Given the description of an element on the screen output the (x, y) to click on. 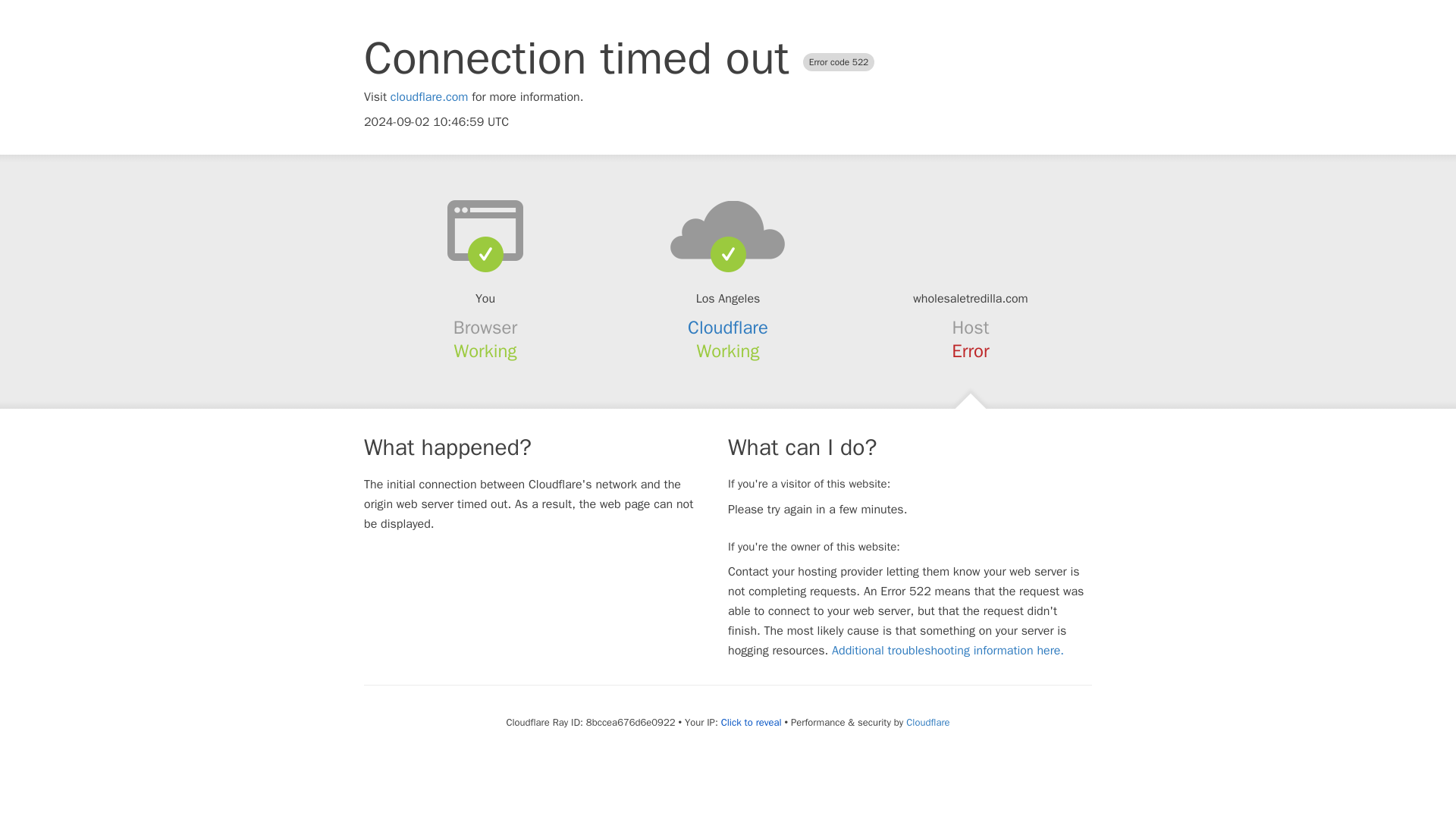
cloudflare.com (429, 96)
Click to reveal (750, 722)
Cloudflare (727, 327)
Cloudflare (927, 721)
Additional troubleshooting information here. (947, 650)
